Given the description of an element on the screen output the (x, y) to click on. 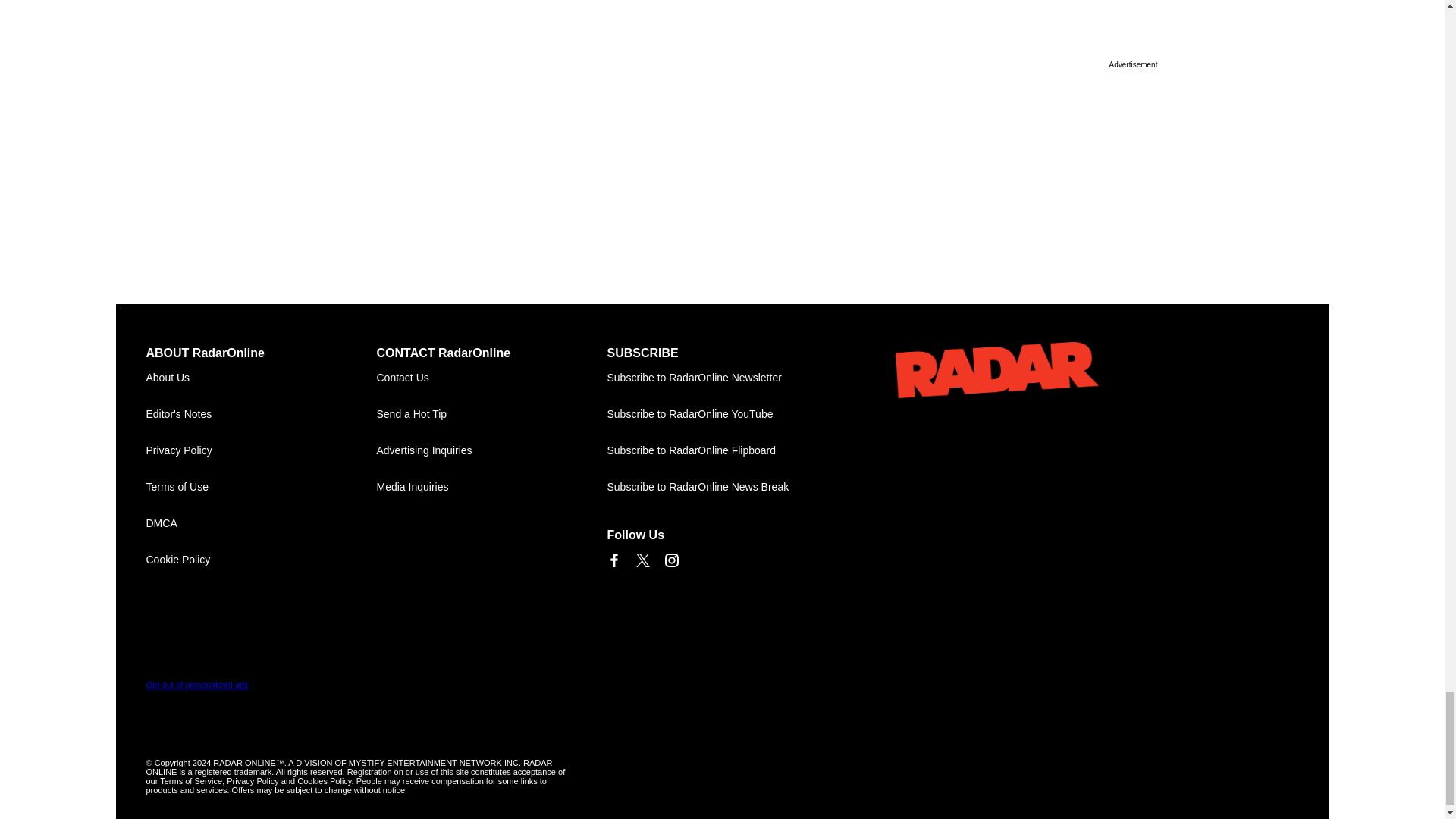
Media Inquiries (491, 487)
DMCA (260, 524)
About Us (260, 378)
Terms of Use (260, 487)
Cookie Policy (260, 560)
Subscribe (722, 378)
Link to Instagram (670, 560)
Send a Hot Tip (491, 414)
Editor's Notes (260, 414)
Contact Us (491, 378)
